Given the description of an element on the screen output the (x, y) to click on. 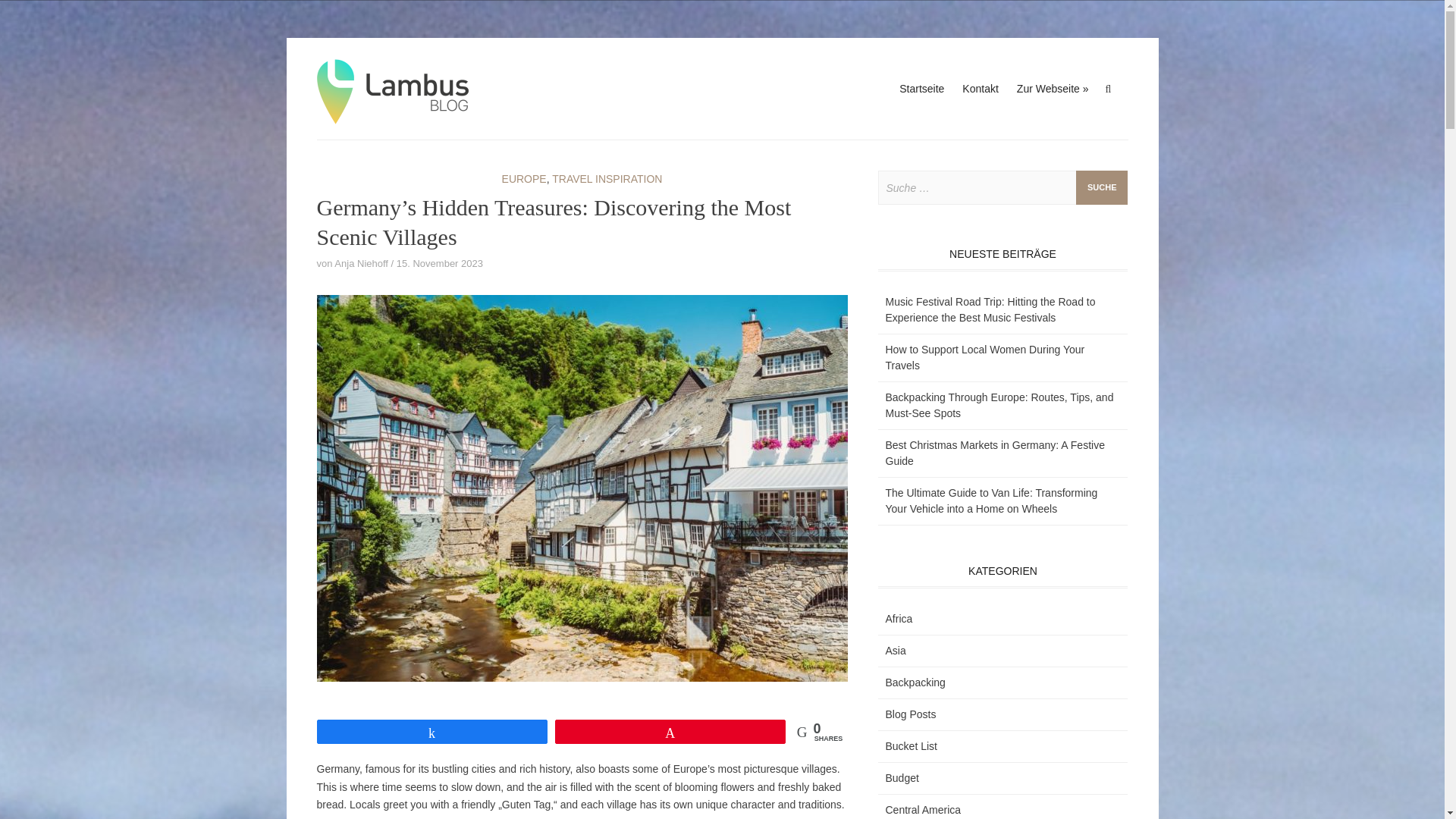
TRAVEL INSPIRATION (606, 178)
Kontakt (980, 88)
Suche (1101, 187)
Anja Niehoff (361, 263)
15. November 2023 (439, 263)
Suche (1101, 187)
Startseite (921, 88)
EUROPE (524, 178)
Suche (1101, 187)
